Given the description of an element on the screen output the (x, y) to click on. 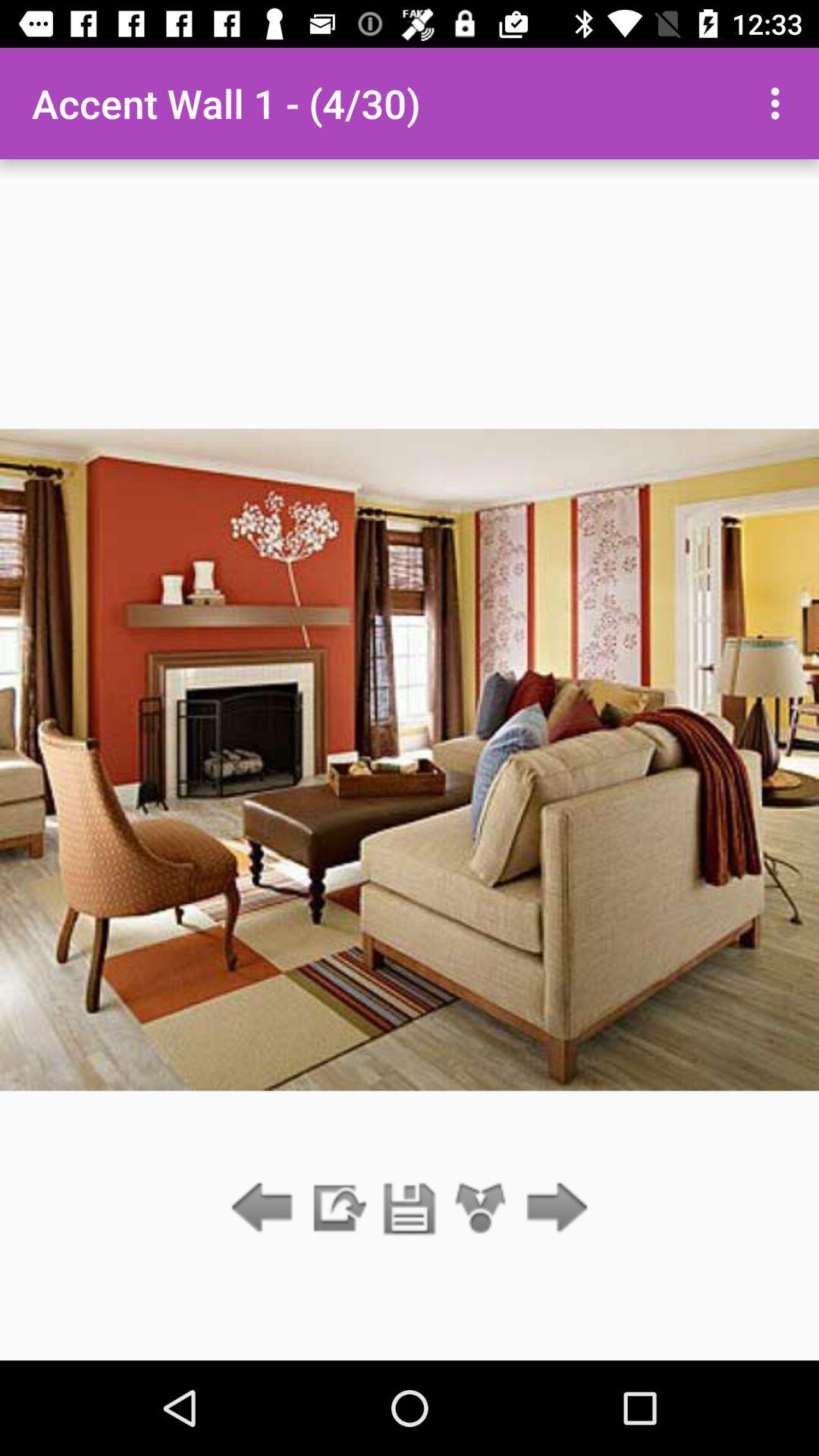
return to previous selection (266, 1209)
